Given the description of an element on the screen output the (x, y) to click on. 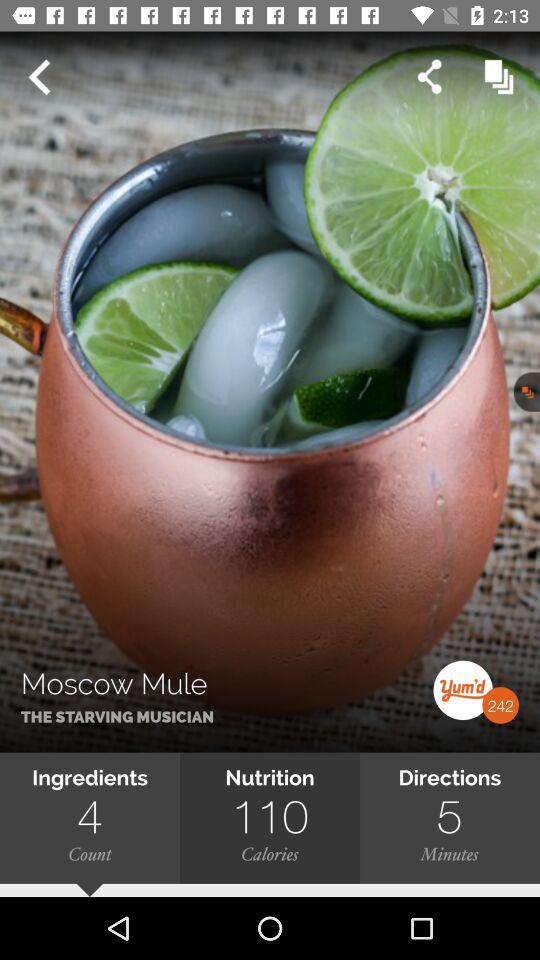
go back (39, 77)
